Given the description of an element on the screen output the (x, y) to click on. 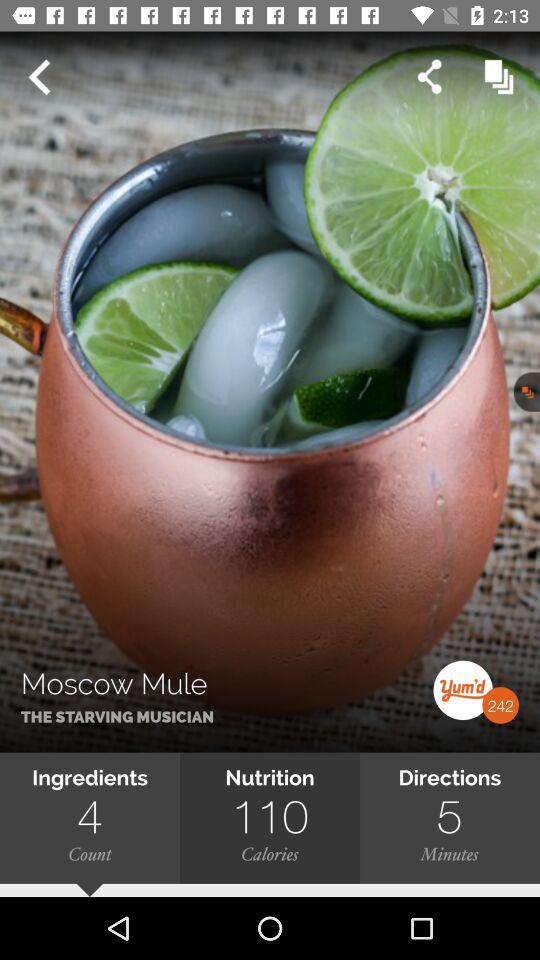
go back (39, 77)
